Given the description of an element on the screen output the (x, y) to click on. 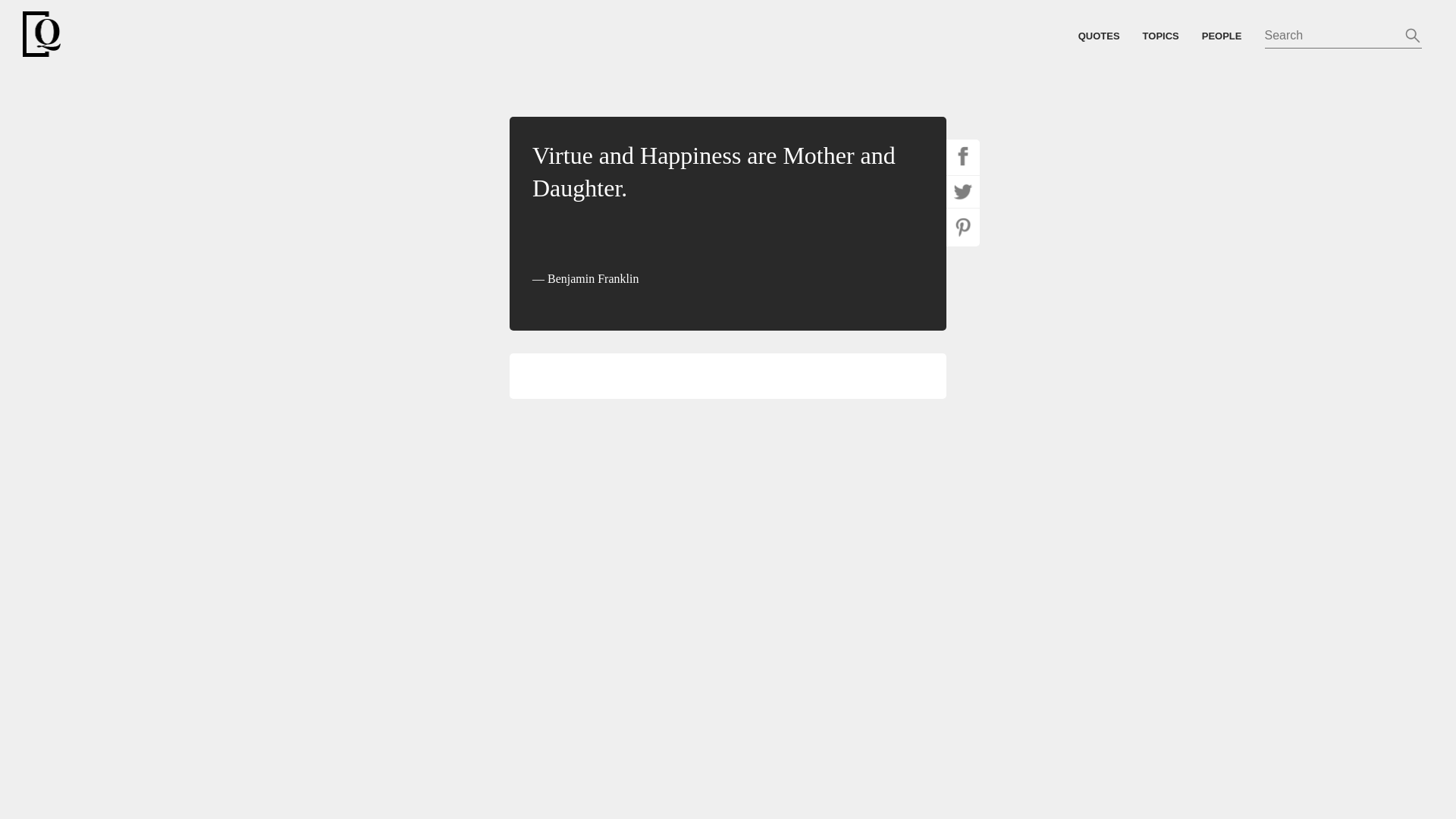
Faceook (962, 155)
Twitter (962, 191)
TOPICS (1172, 35)
Benjamin Franklin (585, 278)
PEOPLE (1233, 35)
QUOTES (1110, 35)
Pin It (962, 227)
